Given the description of an element on the screen output the (x, y) to click on. 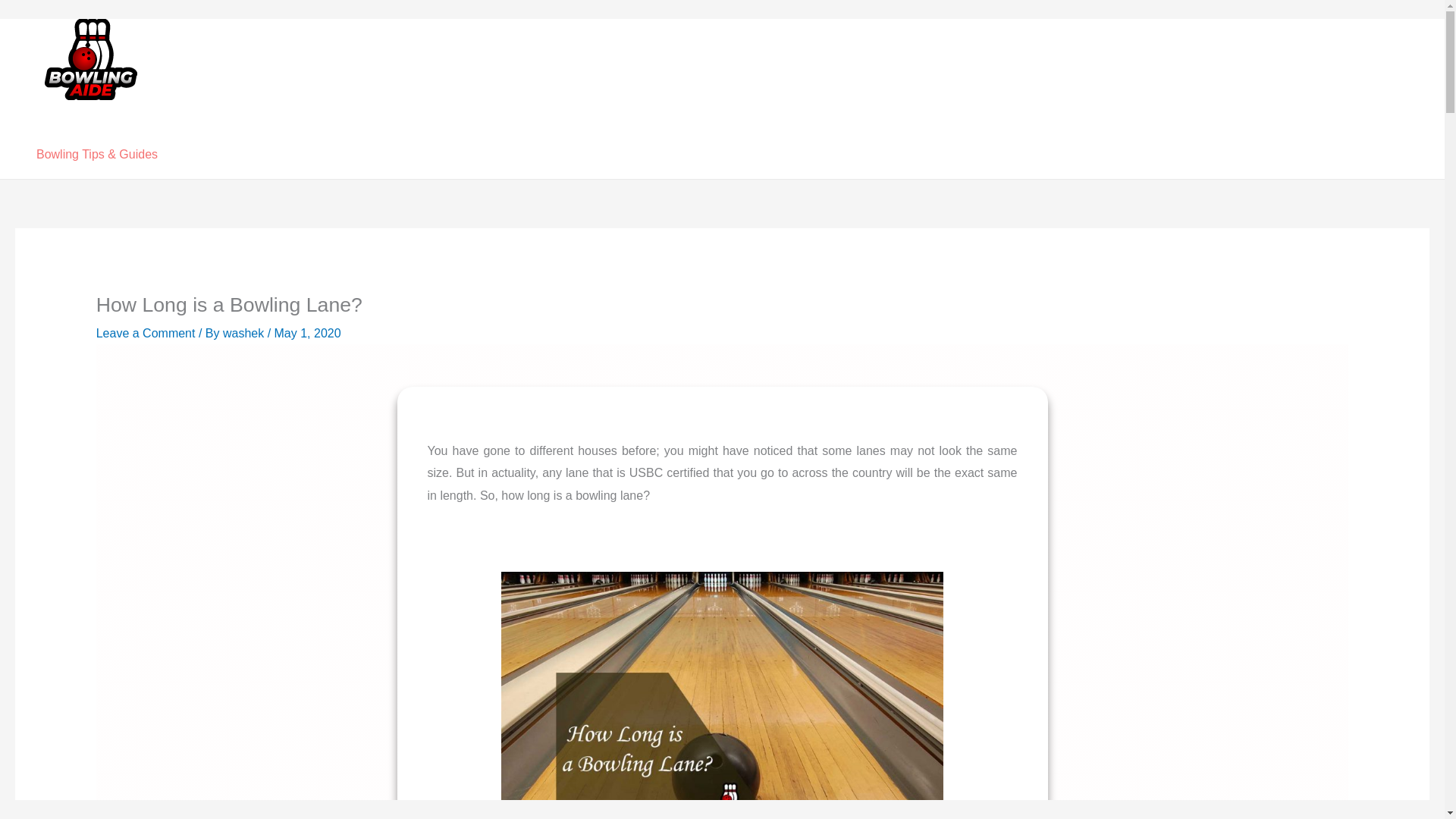
How Long is a Bowling Lane (721, 695)
View all posts by washek (244, 332)
Leave a Comment (145, 332)
washek (244, 332)
